Given the description of an element on the screen output the (x, y) to click on. 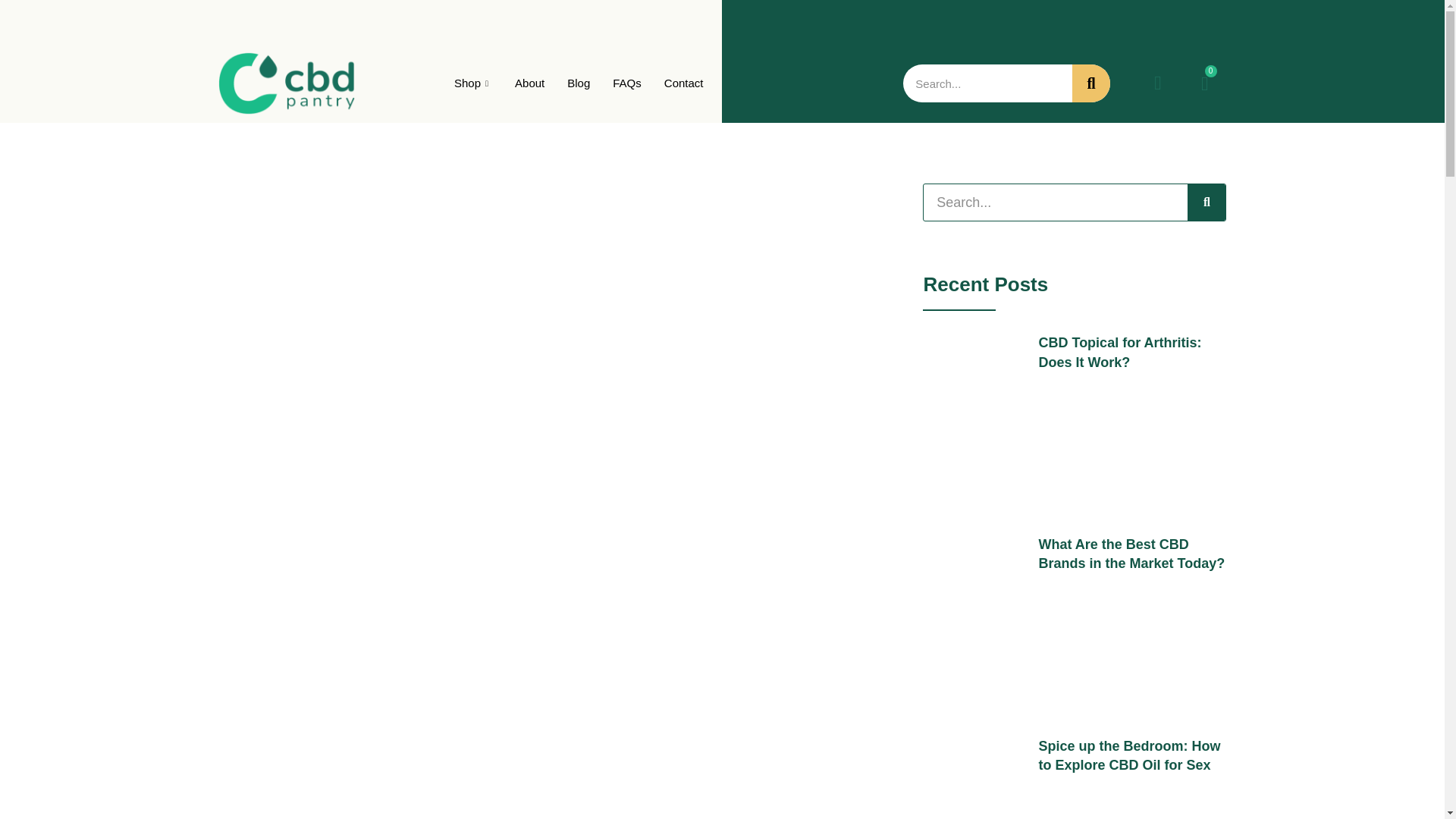
Search (1055, 202)
Search (1206, 202)
Shop (472, 83)
Contact (683, 83)
Search (1090, 83)
Search (986, 83)
